Given the description of an element on the screen output the (x, y) to click on. 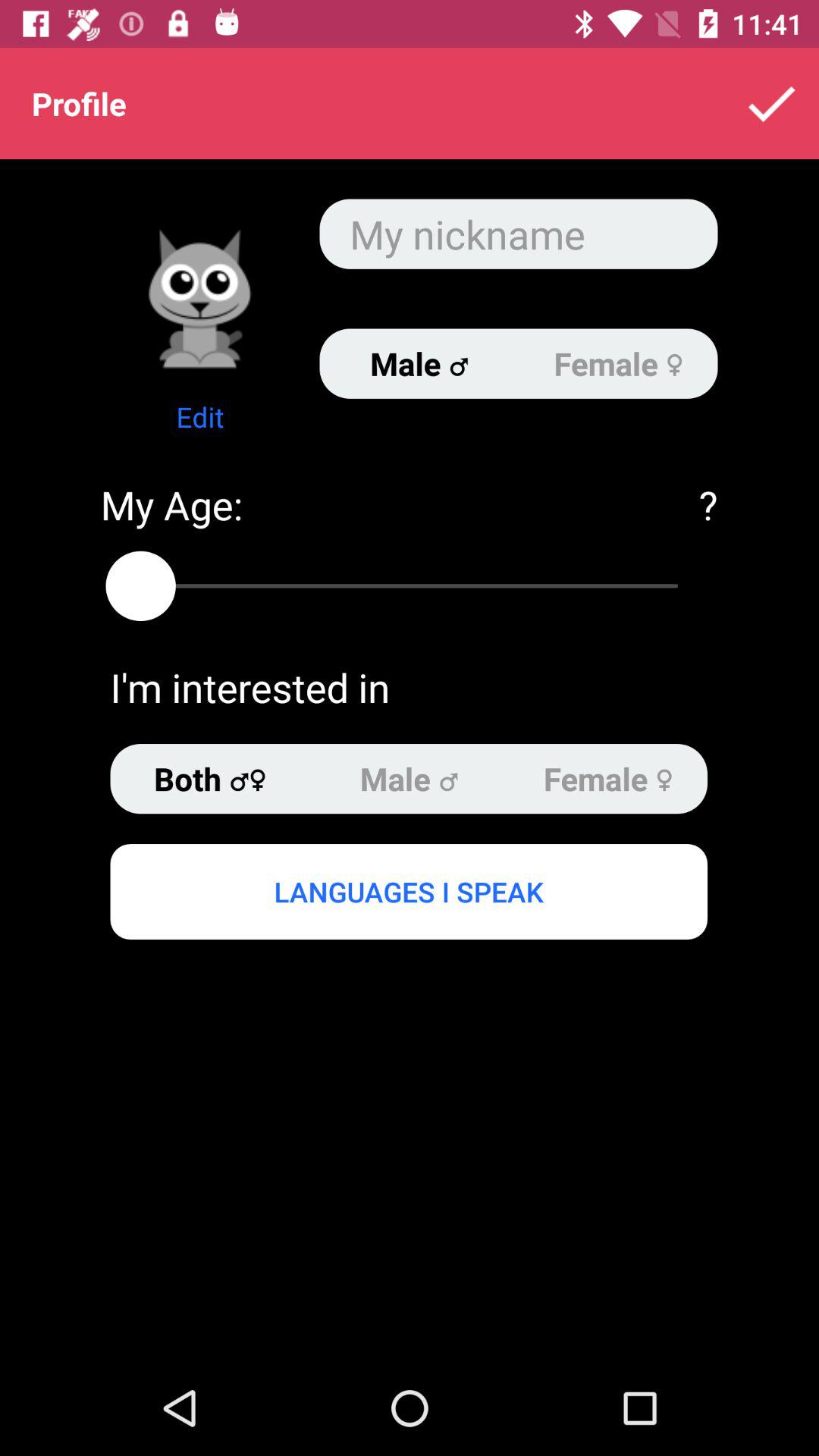
because back devicer (199, 298)
